Given the description of an element on the screen output the (x, y) to click on. 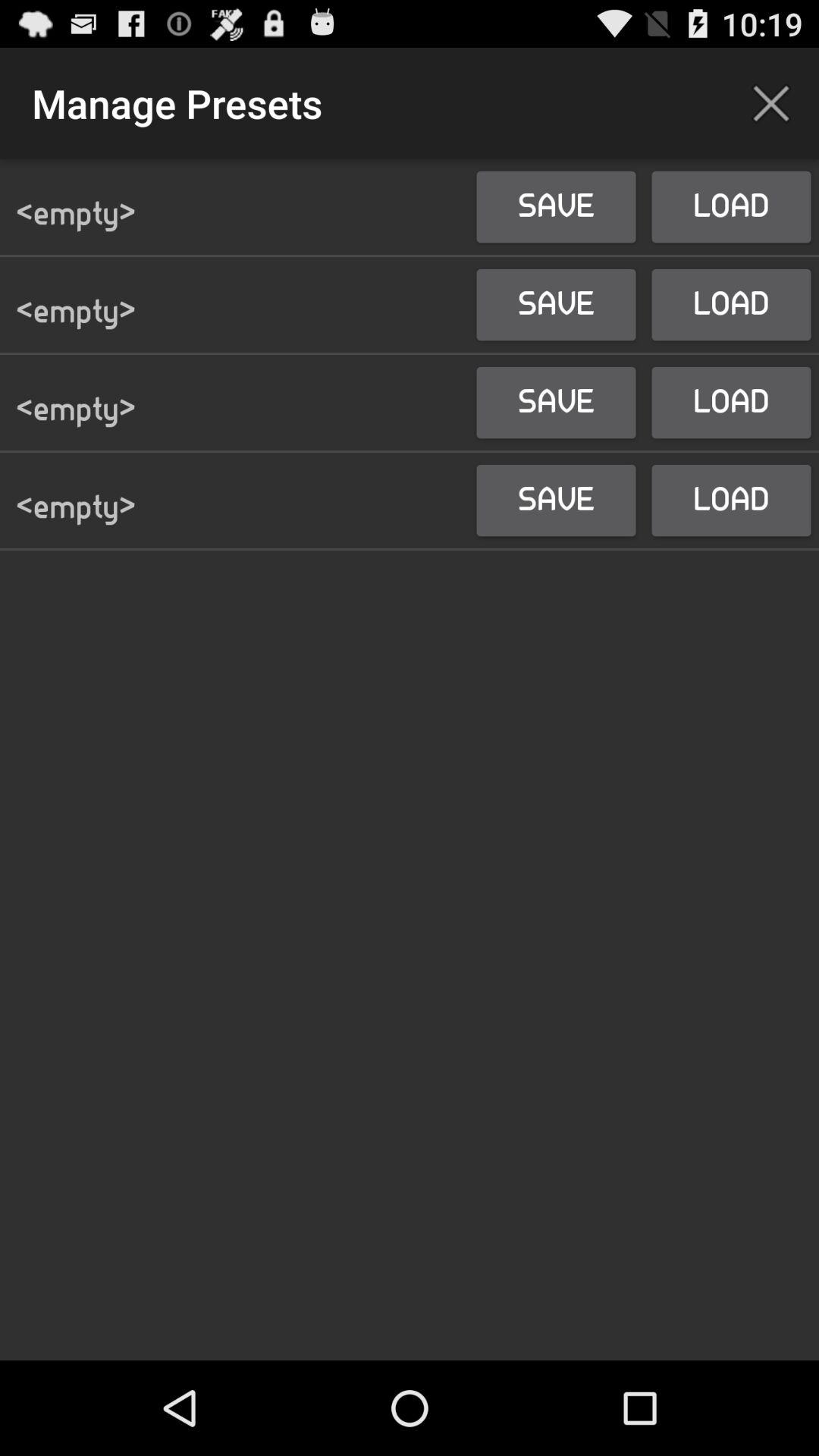
click the icon above the load button (771, 103)
